Given the description of an element on the screen output the (x, y) to click on. 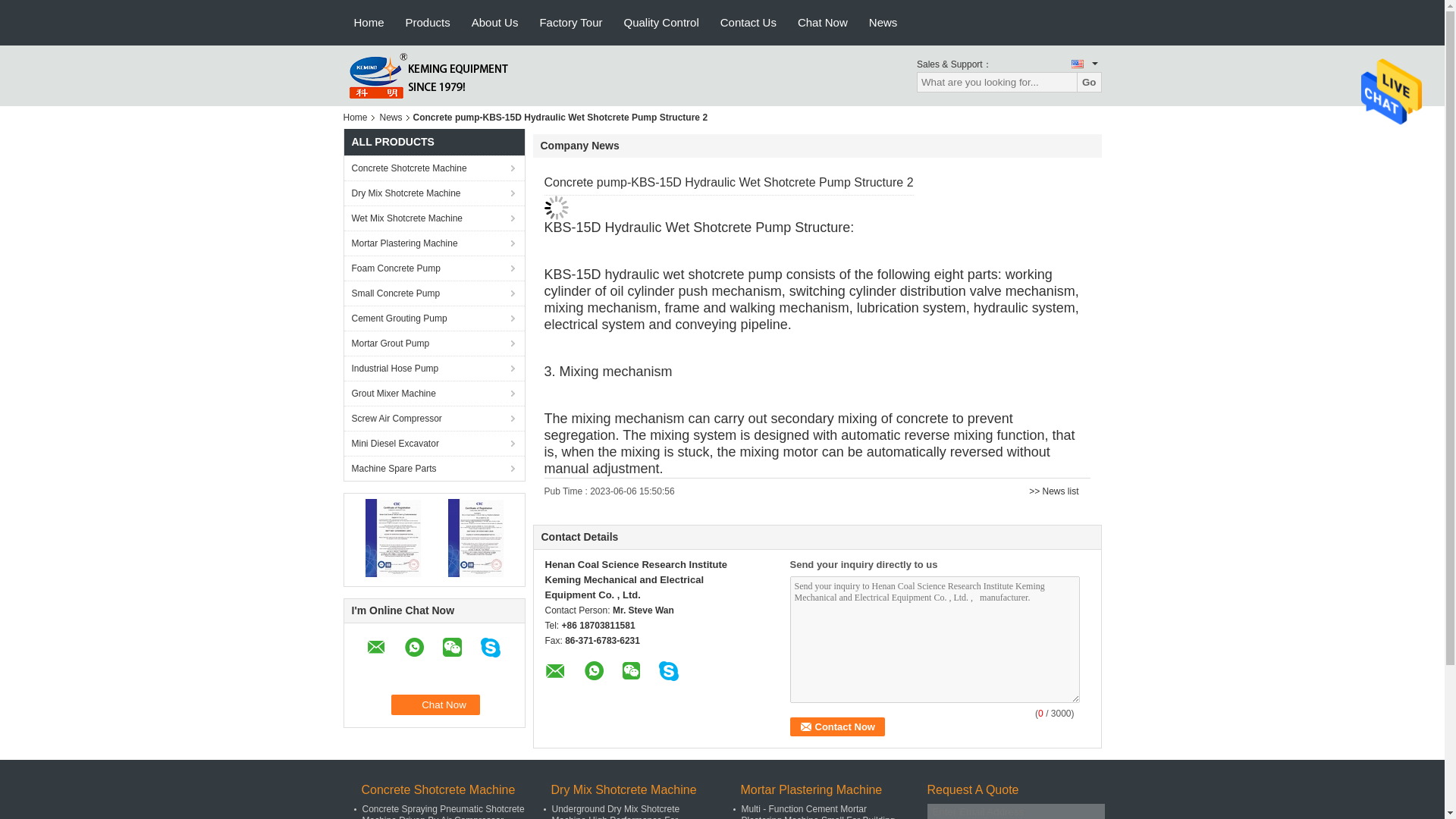
Mortar Plastering Machine (433, 242)
Chat Now (435, 704)
News (391, 117)
Factory Tour (570, 22)
Wet Mix Shotcrete Machine (433, 217)
About Us (495, 22)
Small Concrete Pump (433, 292)
Foam Concrete Pump (433, 267)
Home (357, 117)
